Given the description of an element on the screen output the (x, y) to click on. 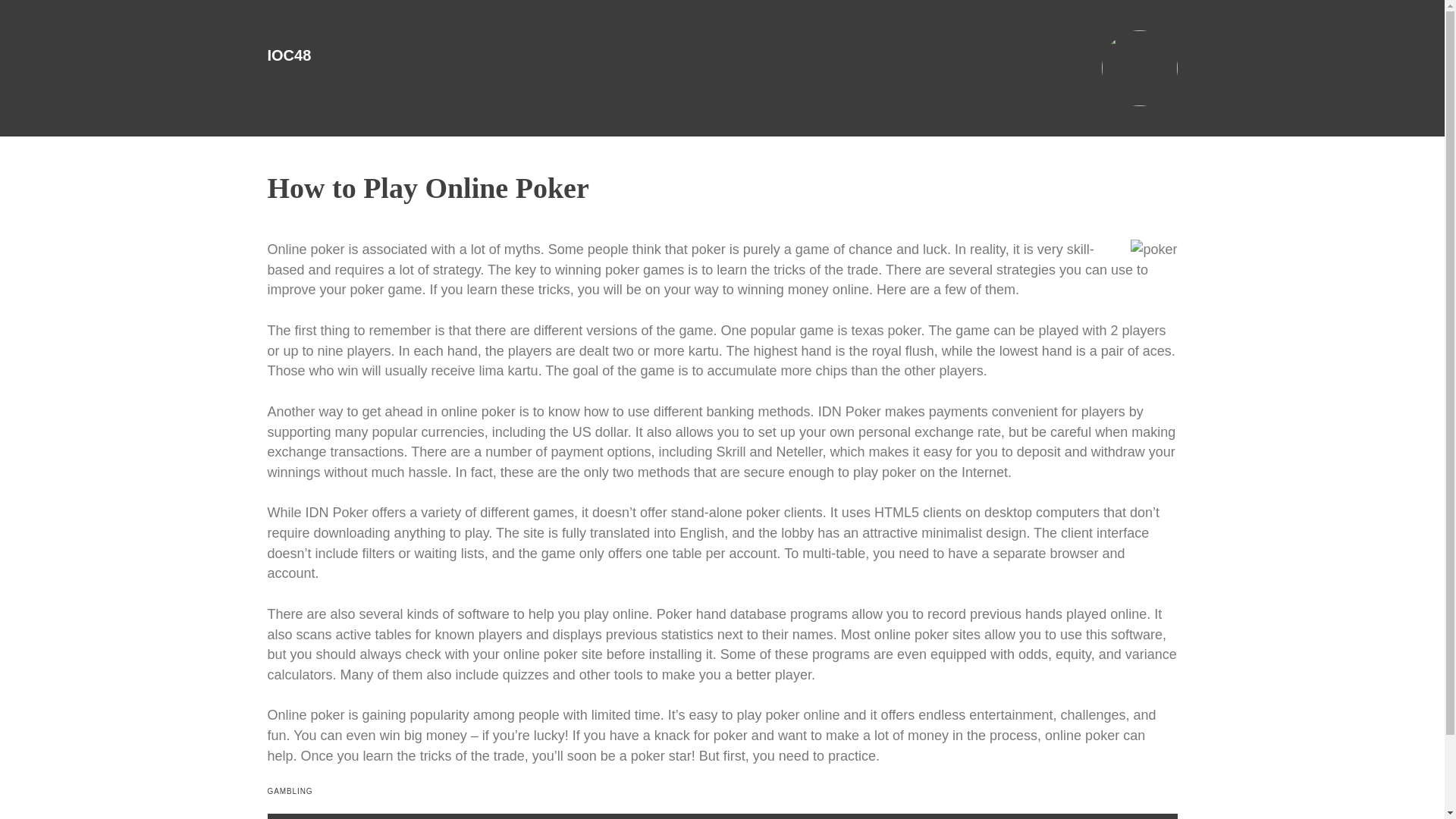
GAMBLING (289, 791)
ioc48 (288, 54)
IOC48 (288, 54)
